Given the description of an element on the screen output the (x, y) to click on. 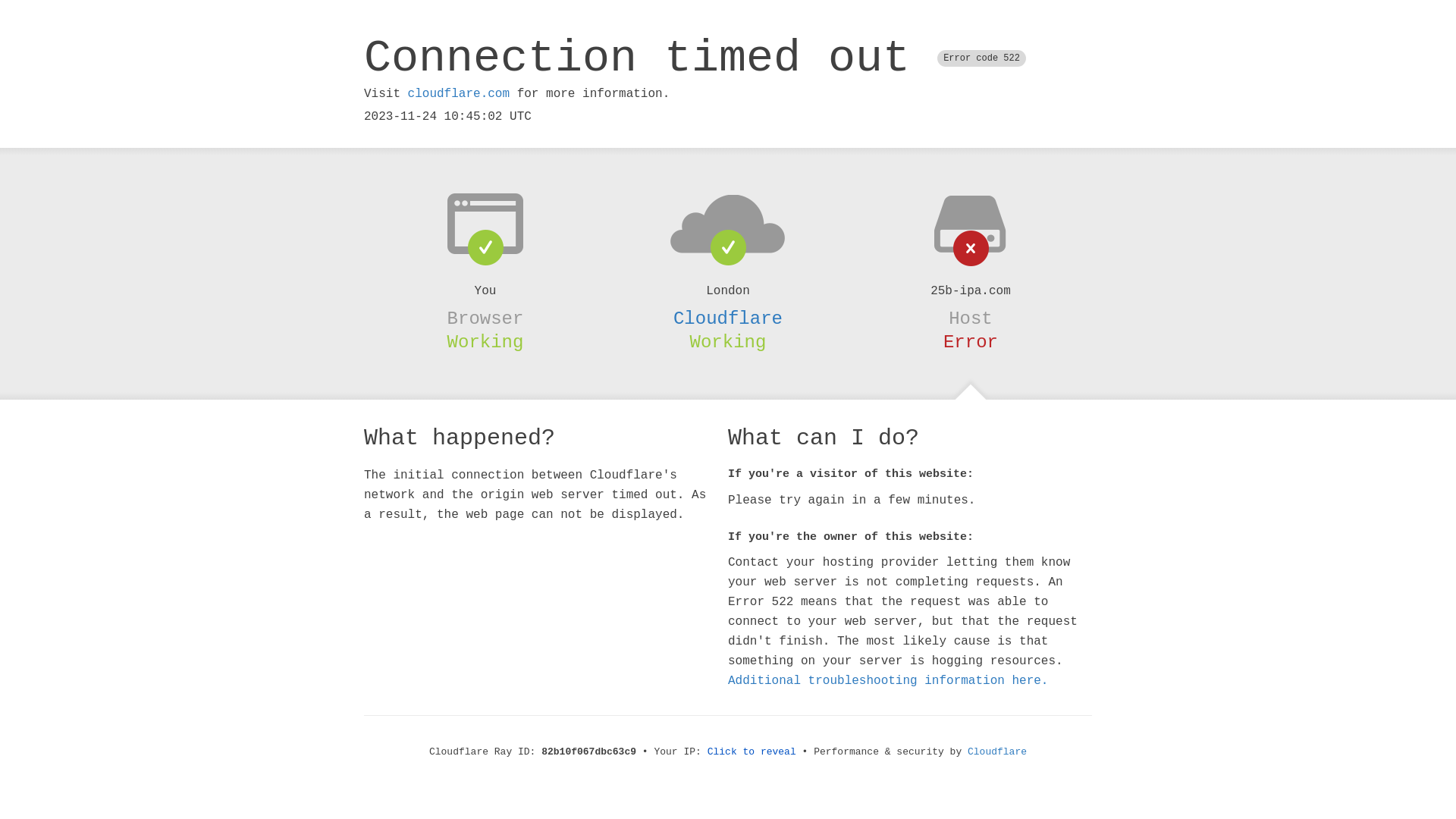
Click to reveal Element type: text (751, 751)
cloudflare.com Element type: text (458, 93)
Cloudflare Element type: text (996, 751)
Cloudflare Element type: text (727, 318)
Additional troubleshooting information here. Element type: text (888, 680)
